Given the description of an element on the screen output the (x, y) to click on. 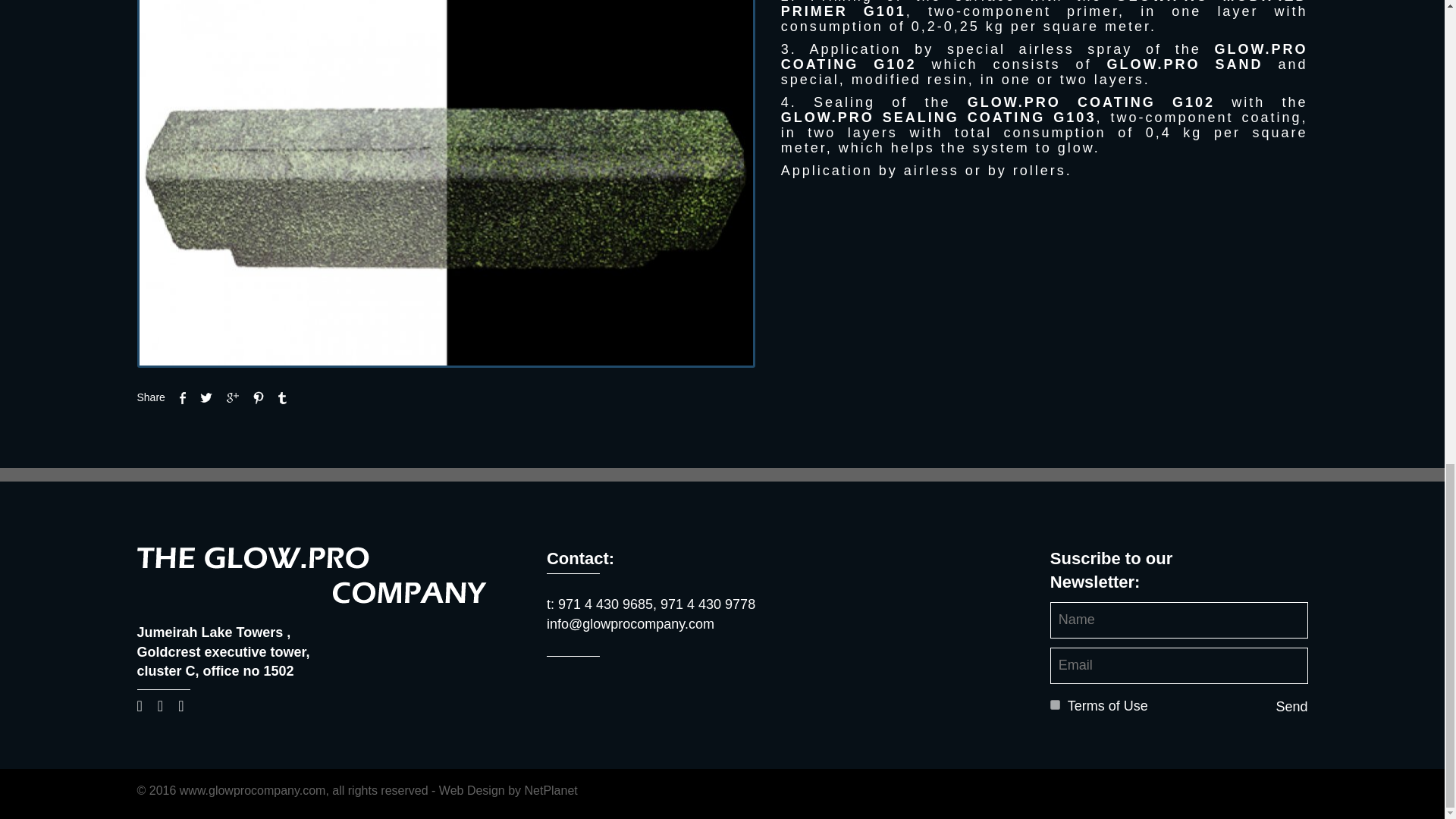
Terms of Use (1107, 706)
Send (1291, 707)
1 (1054, 705)
NetPlanet (550, 789)
Send (1291, 707)
Web Design (472, 789)
